Given the description of an element on the screen output the (x, y) to click on. 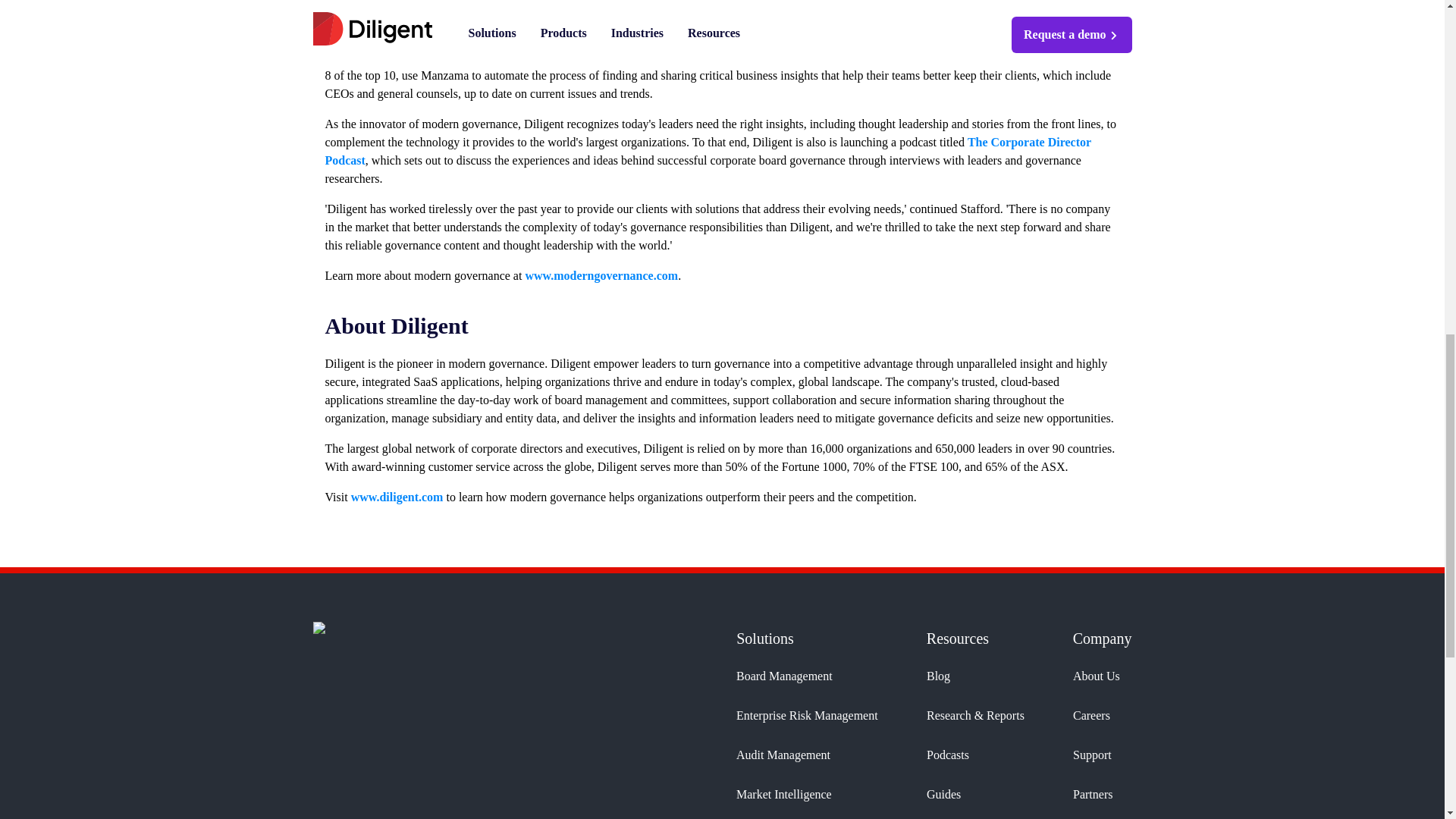
Solutions (806, 638)
Blog (975, 676)
www.moderngovernance.com (601, 275)
Partners (1102, 794)
The Corporate Director Podcast (707, 151)
Board Management (806, 676)
Guides (975, 794)
Careers (1102, 715)
Company (1102, 638)
Podcasts (975, 755)
